Given the description of an element on the screen output the (x, y) to click on. 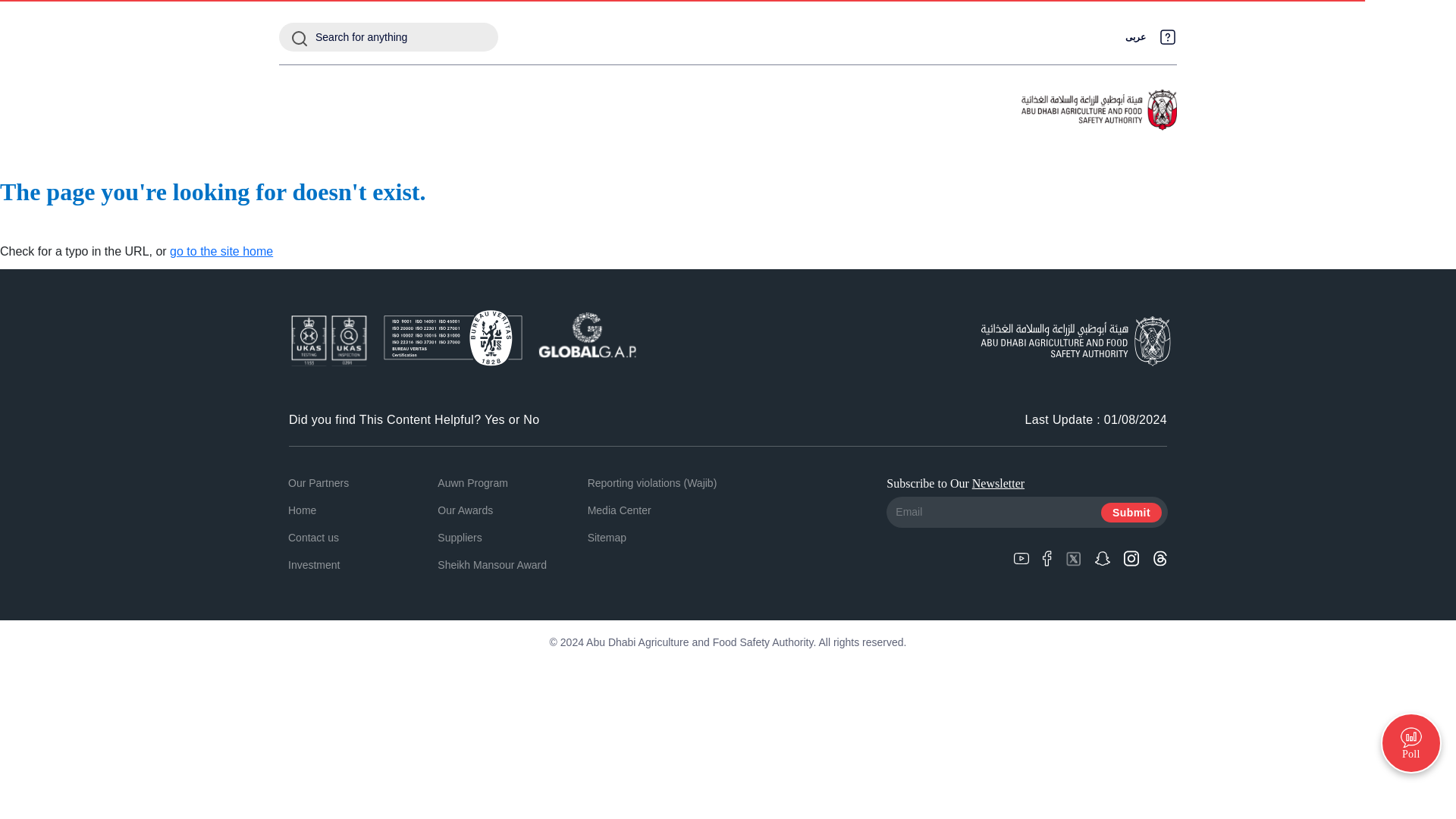
Sheikh Mansour Award (492, 564)
ABU DHABI AGRICULTURE AND FOOD SAFETY AUTHORITY (1099, 109)
Media Center (619, 510)
Auwn Program (473, 482)
Our Awards (465, 510)
Snapchat (1101, 557)
Sitemap (607, 537)
FAQs (1167, 36)
Our Partners (318, 482)
Submit (1130, 512)
Our Partners (318, 482)
Home (301, 510)
Investment (313, 564)
Contact us (313, 537)
Sheikh Mansour Award (492, 564)
